Given the description of an element on the screen output the (x, y) to click on. 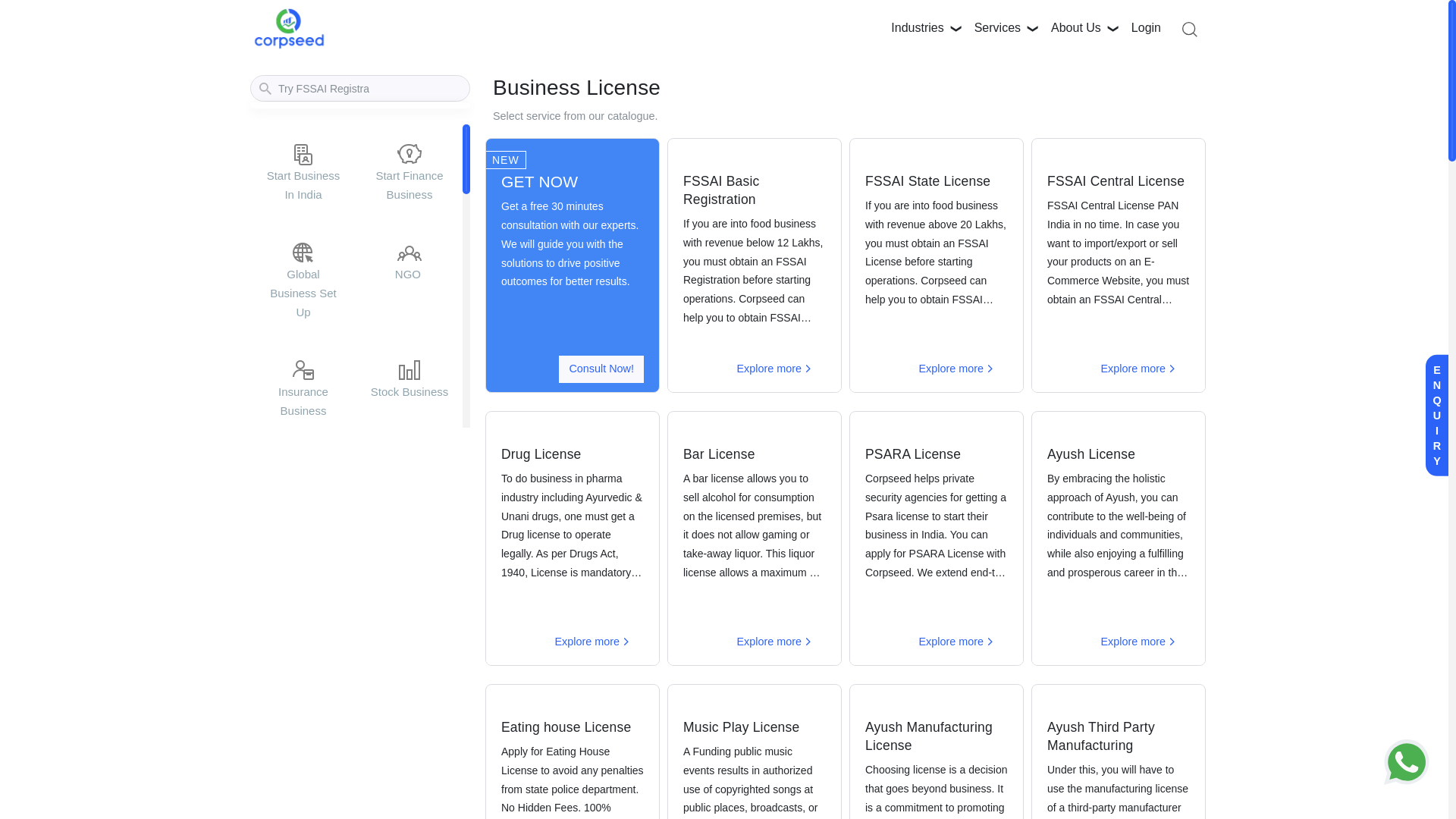
Services (997, 28)
Show Chat (1409, 761)
Industries (917, 28)
